Given the description of an element on the screen output the (x, y) to click on. 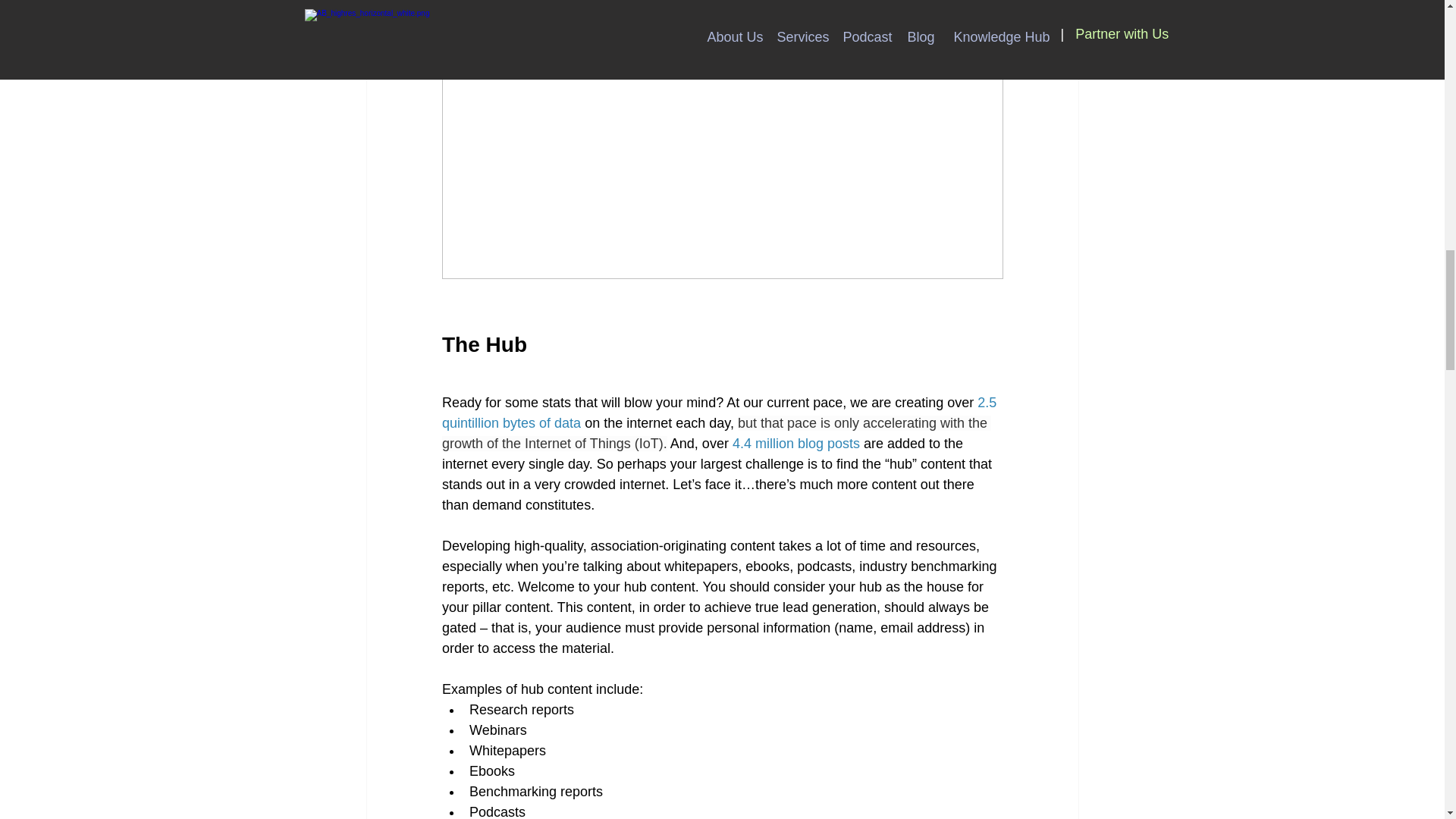
4.4 million blog posts (795, 443)
2.5 quintillion bytes of data (719, 412)
